Given the description of an element on the screen output the (x, y) to click on. 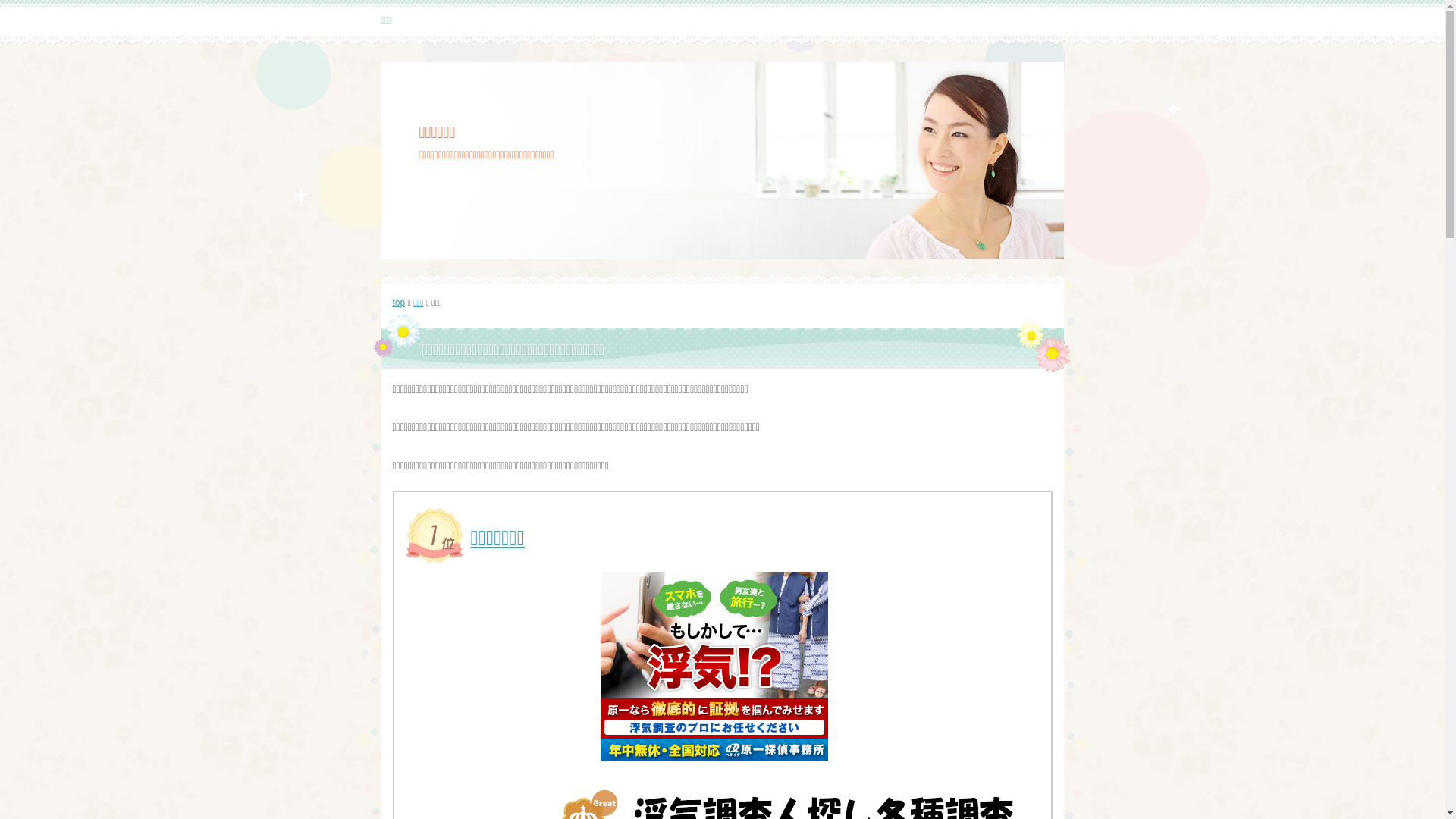
top Element type: text (398, 302)
